Given the description of an element on the screen output the (x, y) to click on. 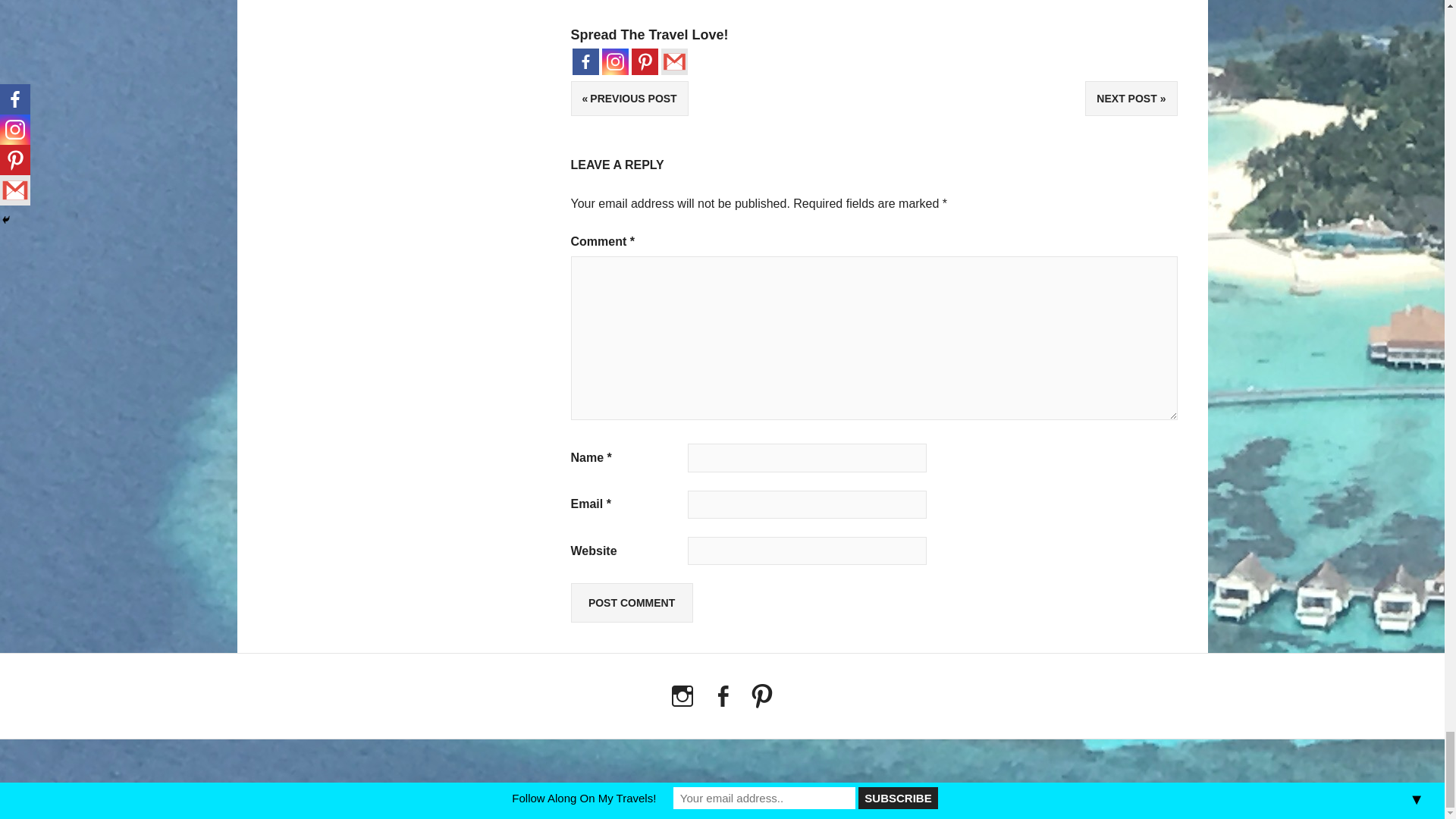
Pinterest (644, 61)
Instagram (615, 61)
Facebook (585, 61)
Post Comment (631, 602)
Google Gmail (674, 61)
